Given the description of an element on the screen output the (x, y) to click on. 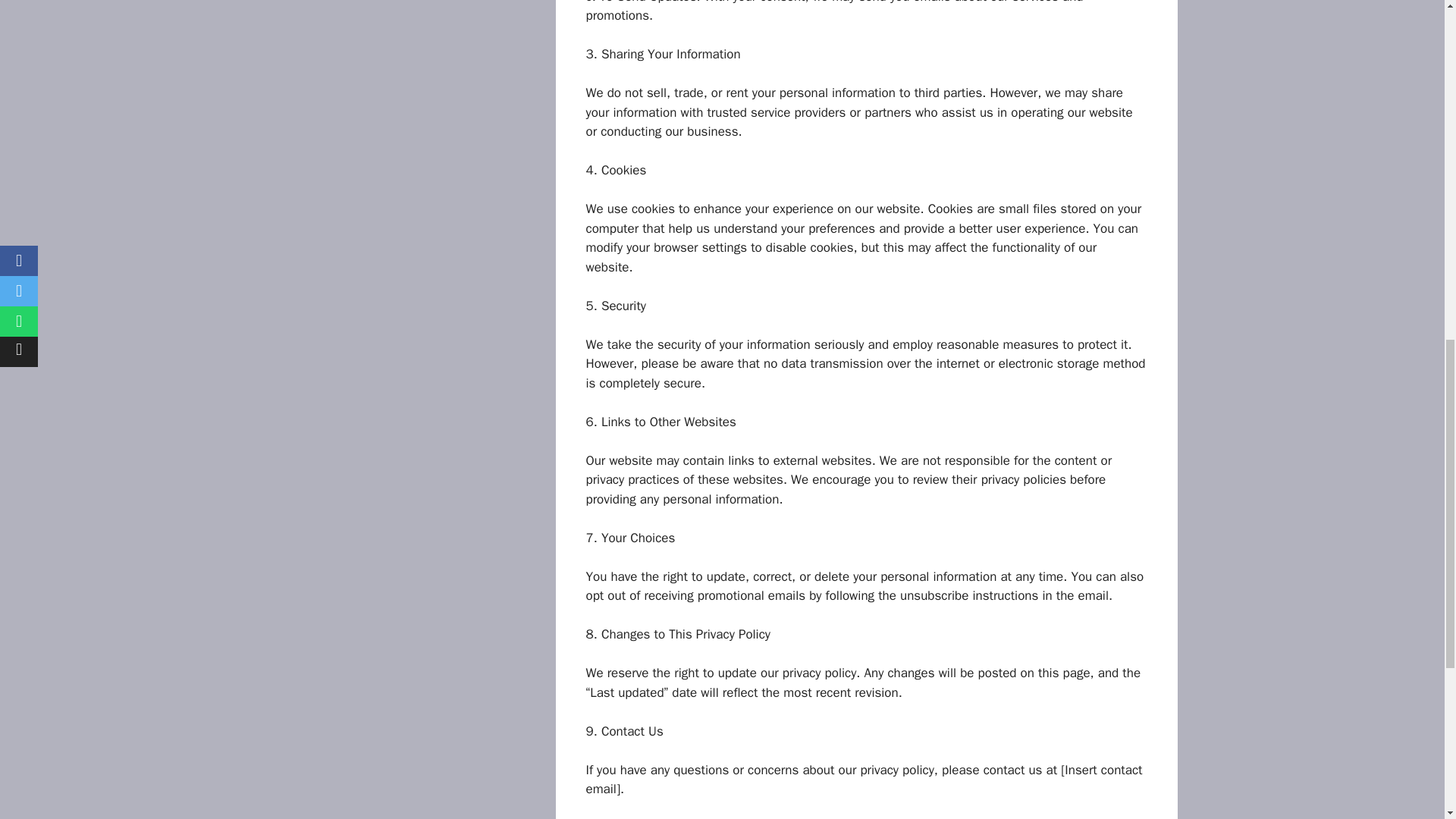
Scroll back to top (1406, 720)
